Given the description of an element on the screen output the (x, y) to click on. 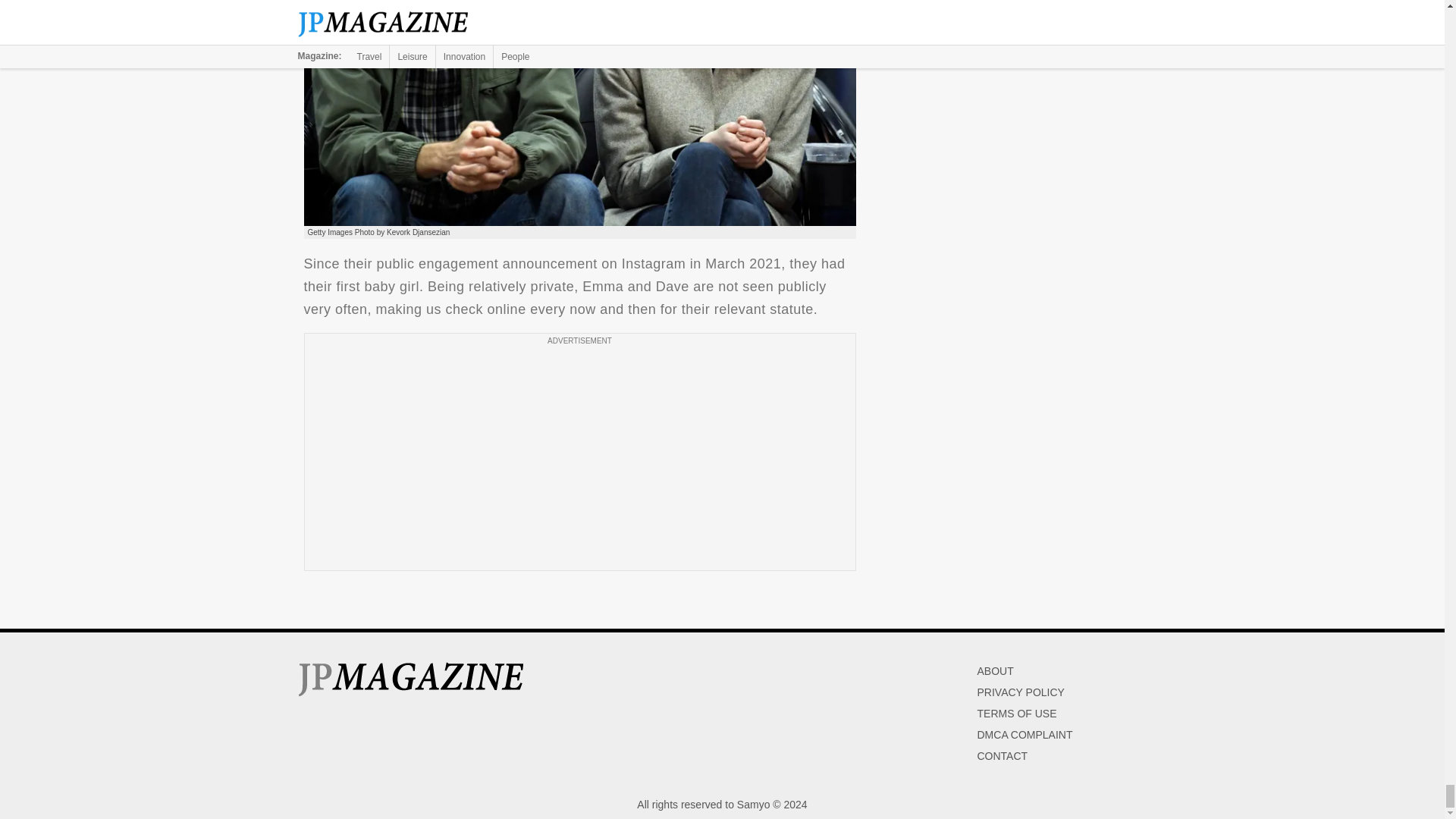
CONTACT (1001, 756)
DMCA COMPLAINT (1023, 734)
PRIVACY POLICY (1020, 692)
TERMS OF USE (1016, 713)
ABOUT (994, 671)
